Given the description of an element on the screen output the (x, y) to click on. 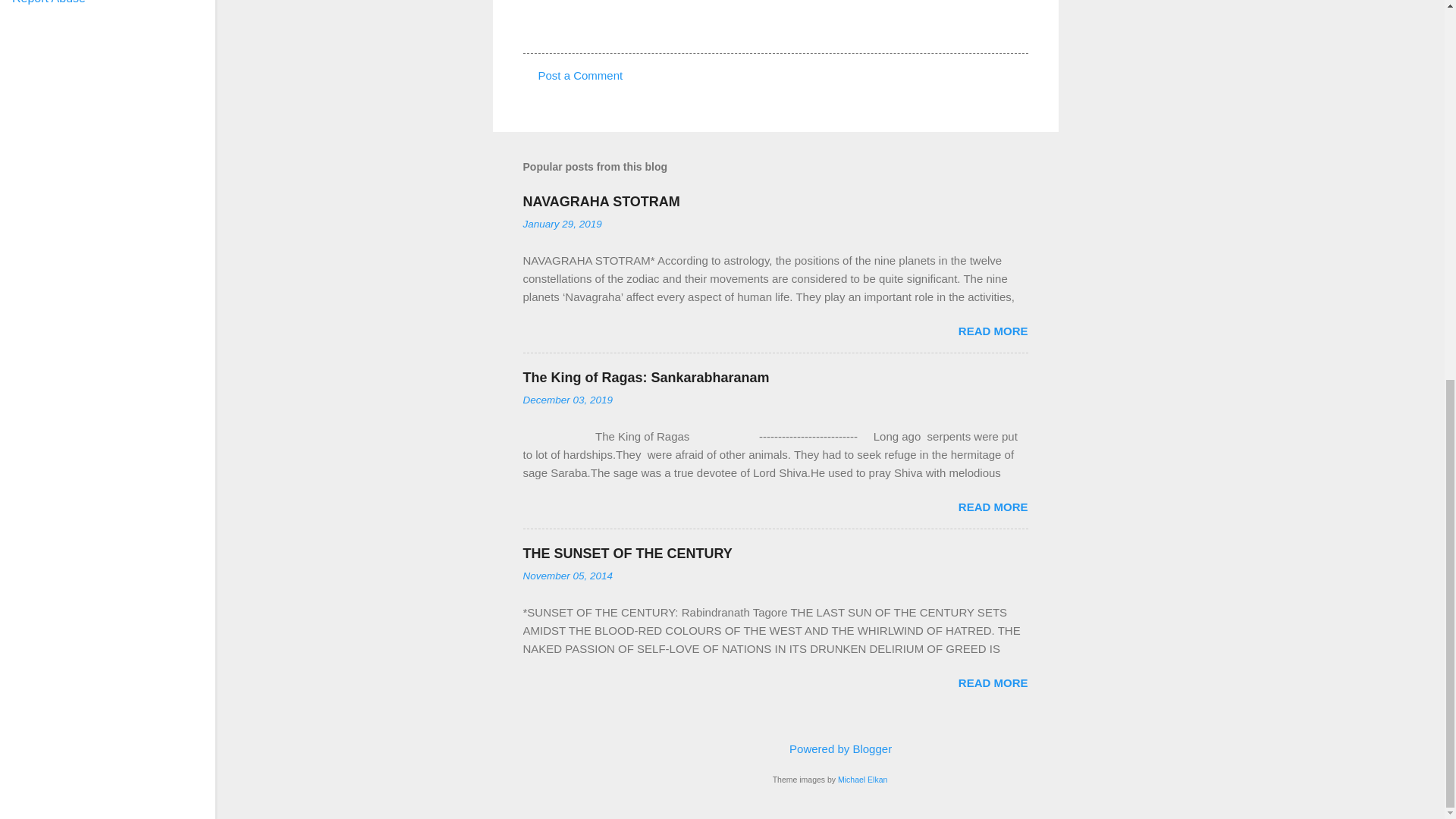
Powered by Blogger (829, 748)
Michael Elkan (862, 778)
December 03, 2019 (567, 399)
READ MORE (992, 330)
READ MORE (992, 682)
November 05, 2014 (567, 575)
THE SUNSET OF THE CENTURY (627, 553)
READ MORE (992, 506)
permanent link (562, 224)
Post a Comment (580, 74)
NAVAGRAHA STOTRAM (600, 201)
The King of Ragas: Sankarabharanam (646, 377)
January 29, 2019 (562, 224)
